Given the description of an element on the screen output the (x, y) to click on. 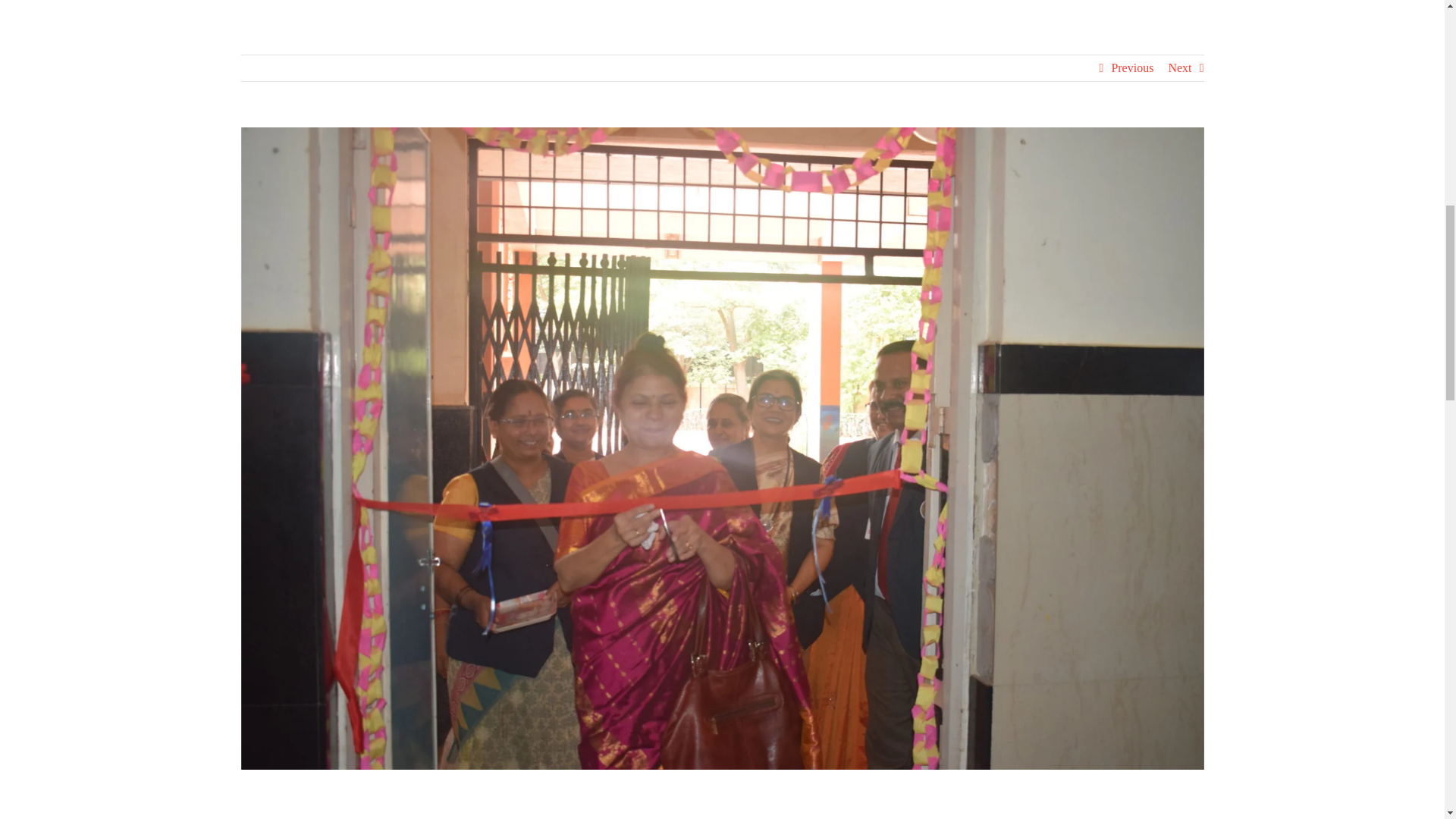
Next (1179, 68)
Previous (1131, 68)
